Given the description of an element on the screen output the (x, y) to click on. 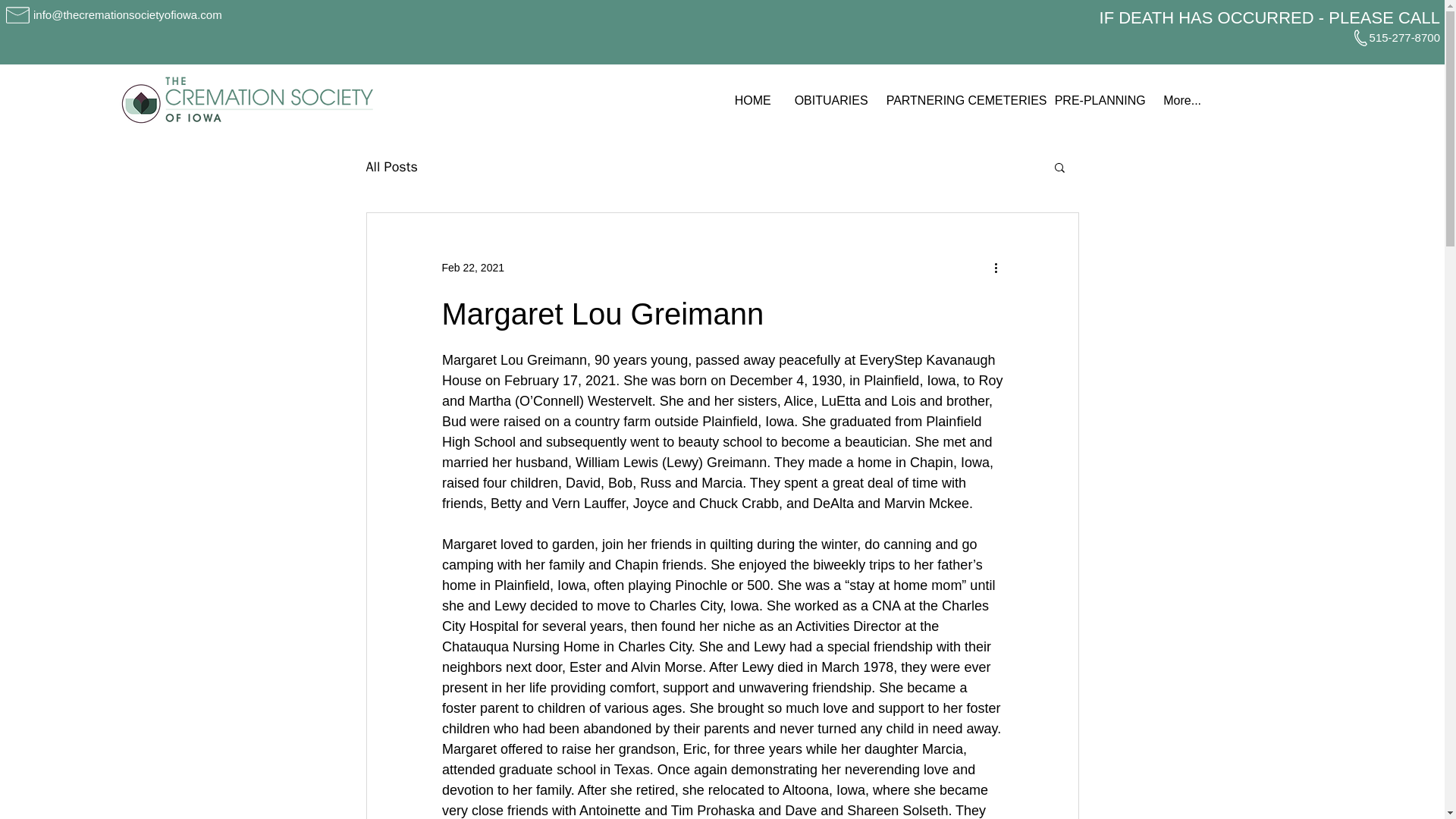
PRE-PLANNING (1097, 100)
HOME (752, 100)
OBITUARIES (829, 100)
Feb 22, 2021 (472, 266)
515-277-8700 (1404, 37)
CALL (1418, 17)
All Posts (390, 167)
PARTNERING CEMETERIES (959, 100)
